Given the description of an element on the screen output the (x, y) to click on. 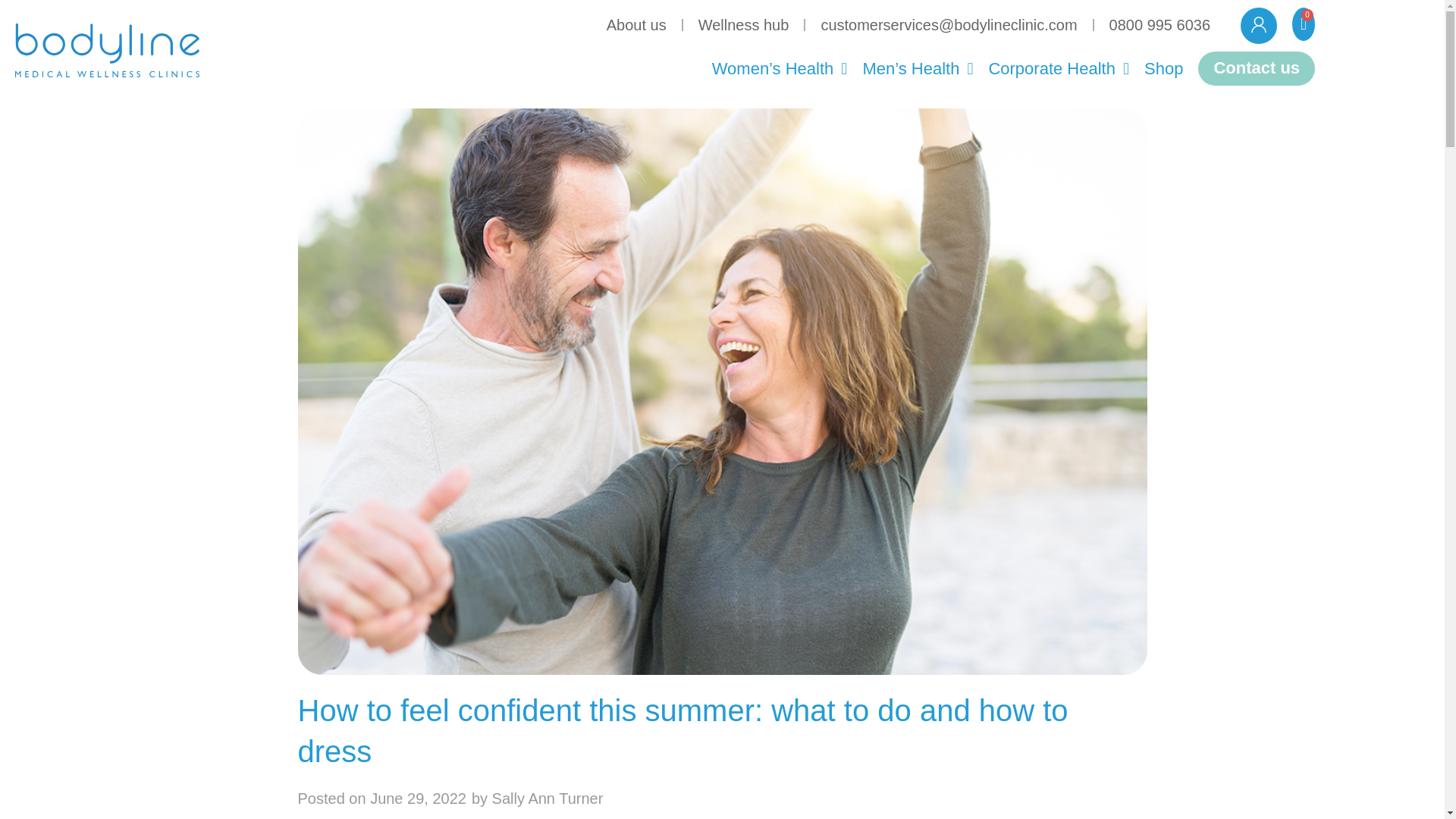
0800 995 6036 (1159, 24)
Wellness hub (743, 24)
About us (636, 24)
